Given the description of an element on the screen output the (x, y) to click on. 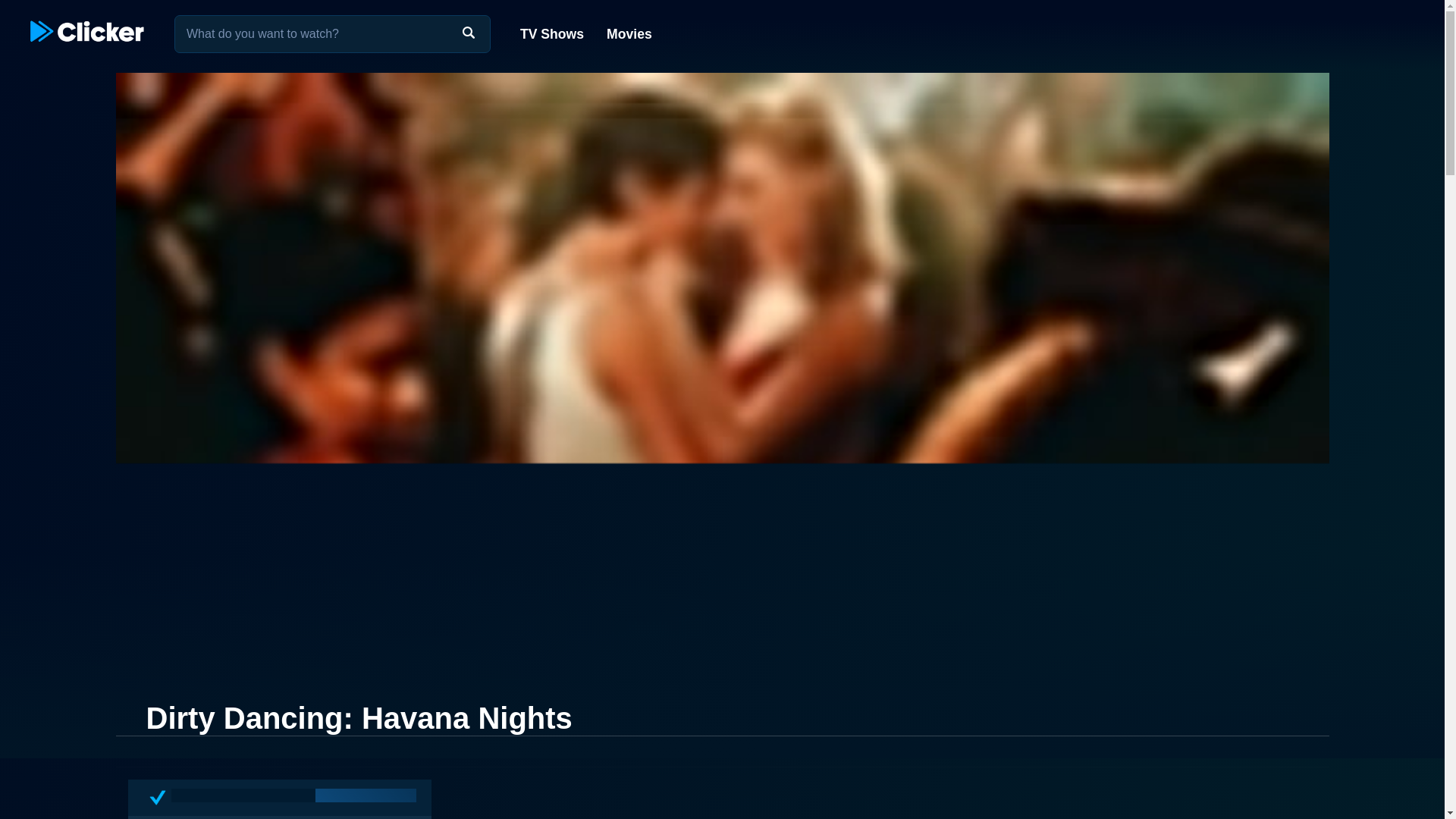
Movies (628, 33)
TV Shows (551, 33)
